Given the description of an element on the screen output the (x, y) to click on. 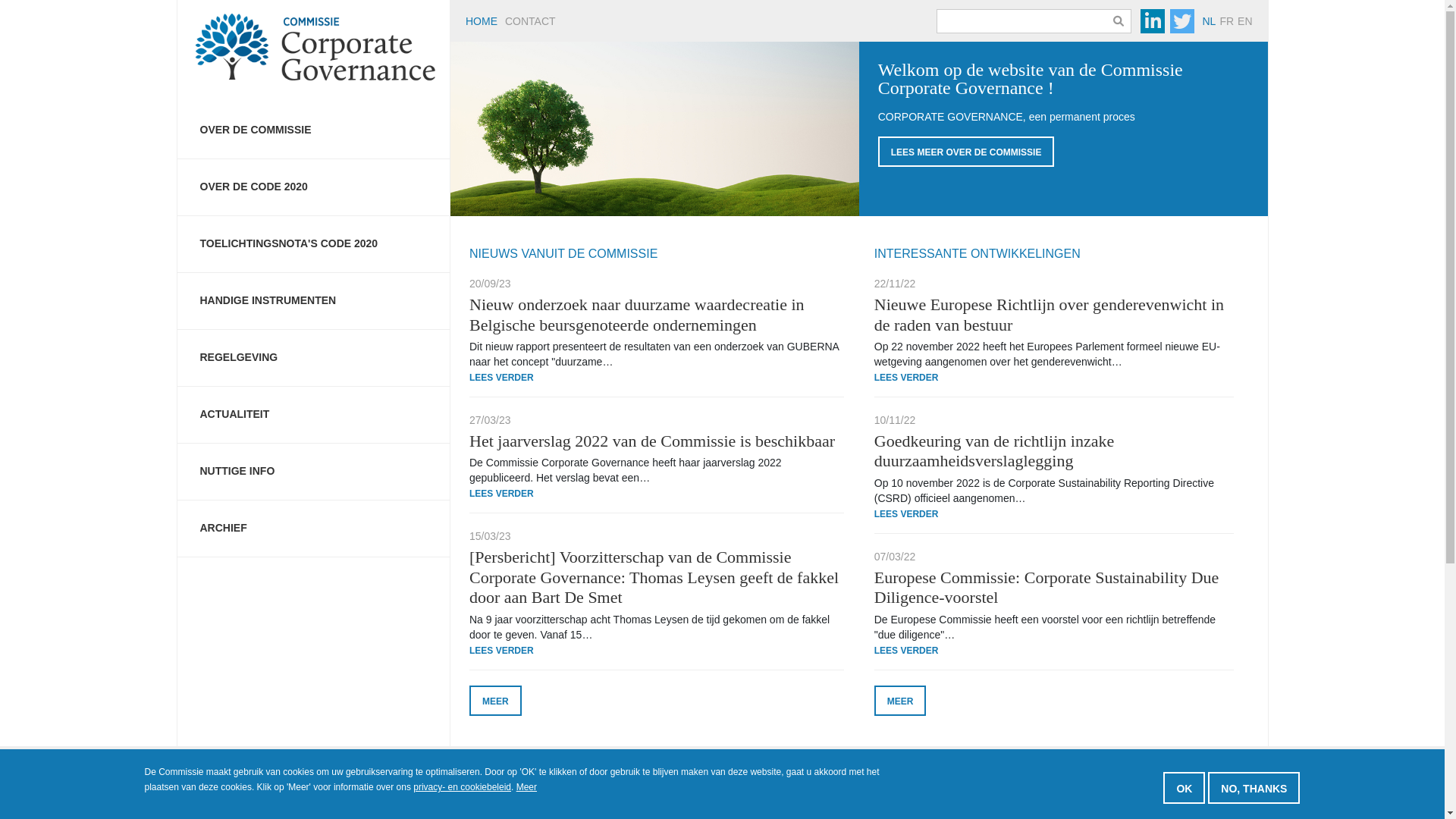
OVER DE CODE 2020 Element type: text (402, 793)
OK Element type: text (1183, 787)
TOELICHTINGSNOTA'S CODE 2020 Element type: text (313, 244)
Meer Element type: text (526, 786)
EN Element type: text (1244, 20)
Het jaarverslag 2022 van de Commissie is beschikbaar Element type: text (651, 440)
LEES VERDER Element type: text (906, 377)
OVER DE CODE 2020 Element type: text (313, 187)
REGELGEVING Element type: text (313, 357)
LEES VERDER Element type: text (501, 377)
HANDIGE INSTRUMENTEN Element type: text (891, 793)
LEES VERDER Element type: text (501, 493)
LEES VERDER Element type: text (906, 650)
HOME Element type: text (481, 20)
FR Element type: text (1226, 20)
TOELICHTINGSNOTA'S CODE 2020 Element type: text (608, 793)
OVER DE COMMISSIE Element type: text (313, 130)
privacy- en cookiebeleid Element type: text (462, 786)
NUTTIGE INFO Element type: text (313, 471)
NO, THANKS Element type: text (1253, 787)
LEES MEER OVER DE COMMISSIE Element type: text (966, 151)
CONTACT Element type: text (530, 20)
REGELGEVING Element type: text (1121, 793)
OVER DE COMMISSIE Element type: text (254, 793)
LEES VERDER Element type: text (501, 650)
MEER Element type: text (495, 700)
NL Element type: text (1208, 20)
MEER Element type: text (900, 700)
ACTUALITEIT Element type: text (313, 414)
ARCHIEF Element type: text (313, 528)
LEES VERDER Element type: text (906, 513)
HANDIGE INSTRUMENTEN Element type: text (313, 301)
